Given the description of an element on the screen output the (x, y) to click on. 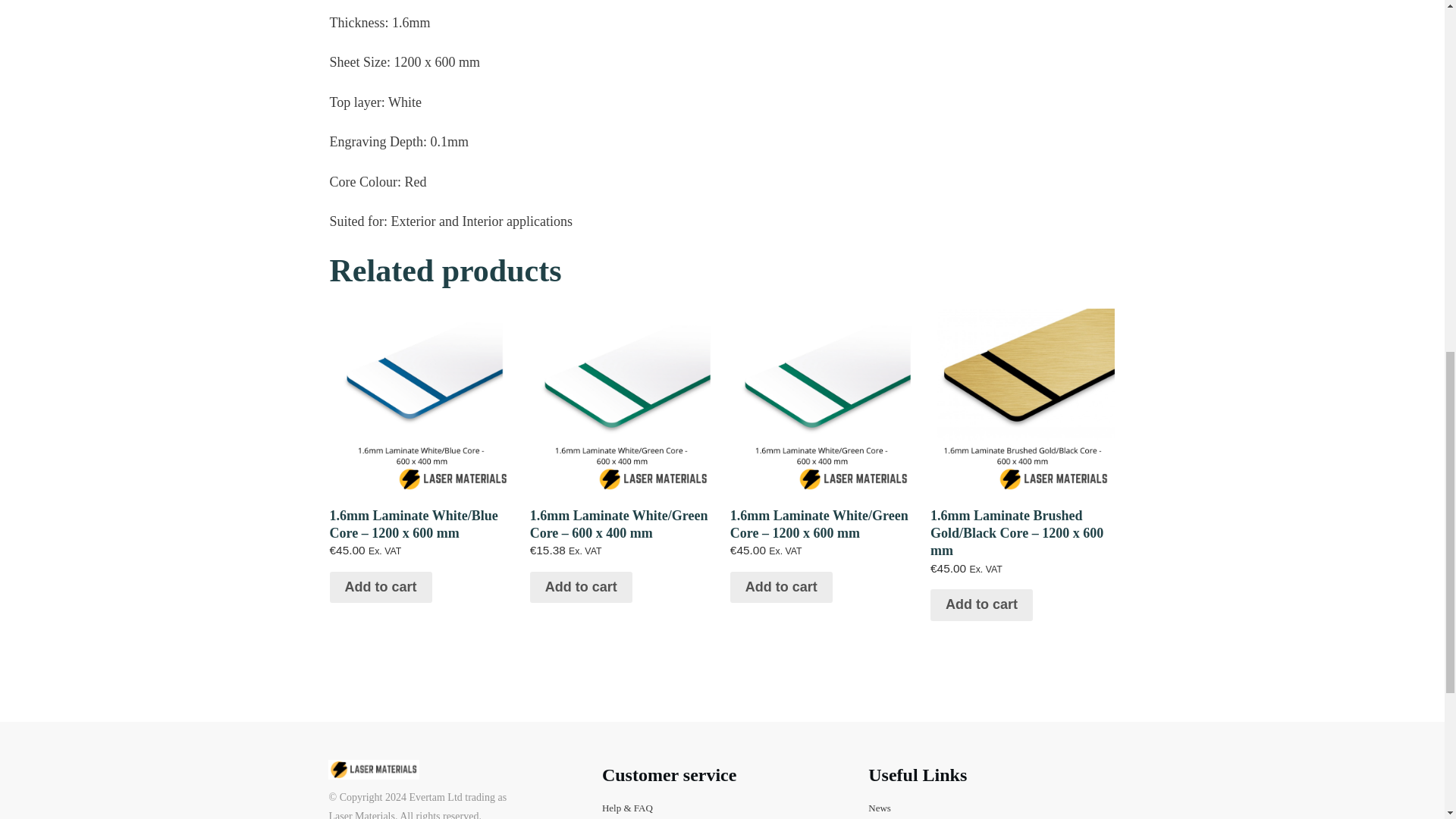
Add to cart (781, 587)
Add to cart (379, 587)
Add to cart (981, 604)
Add to cart (580, 587)
